Given the description of an element on the screen output the (x, y) to click on. 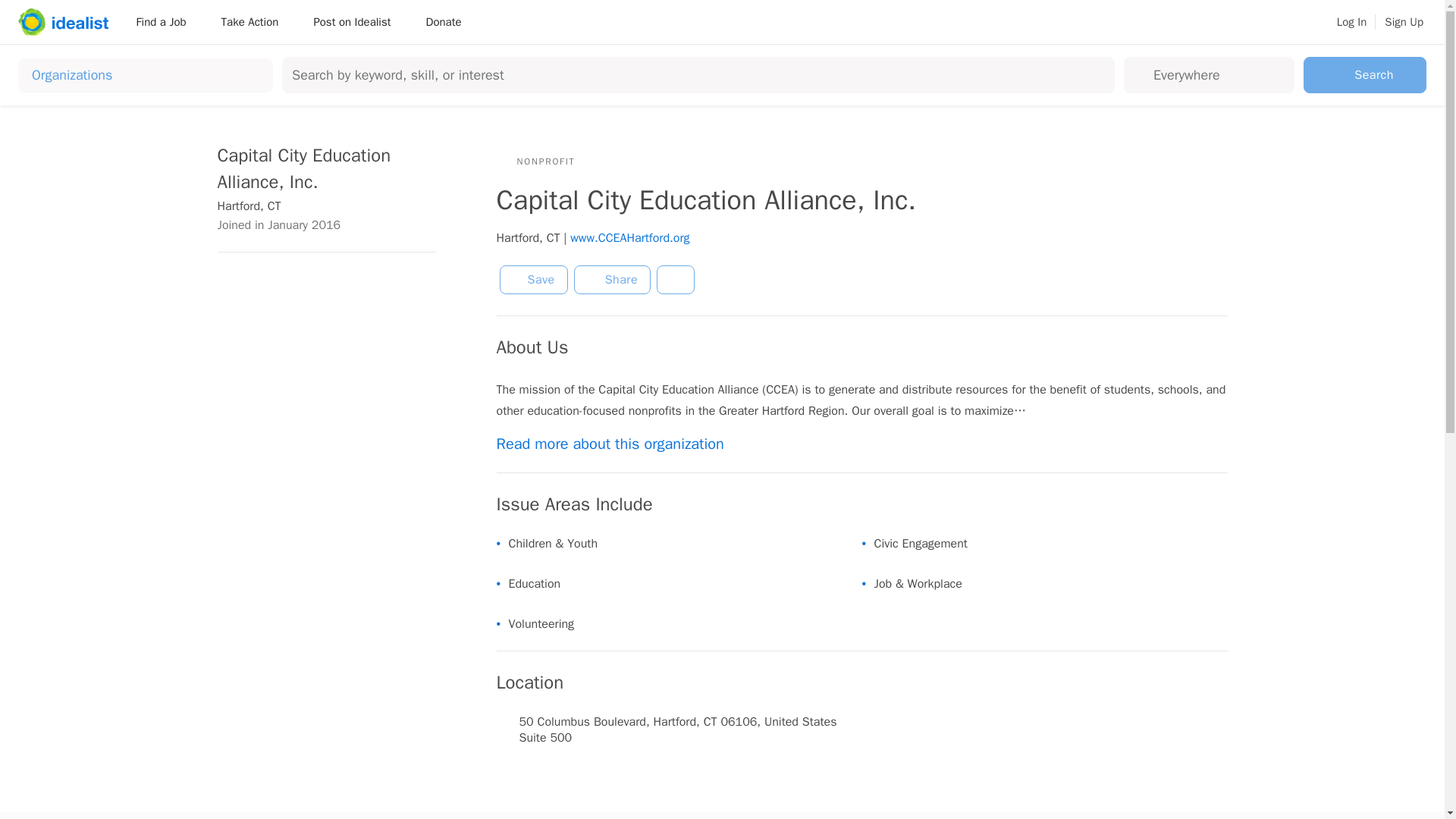
Sign Up (1403, 22)
Search (1364, 74)
Share (611, 279)
Location (1219, 74)
Save (533, 279)
www.CCEAHartford.org (629, 237)
Save (533, 279)
Donate (443, 21)
Log In (1351, 22)
